Given the description of an element on the screen output the (x, y) to click on. 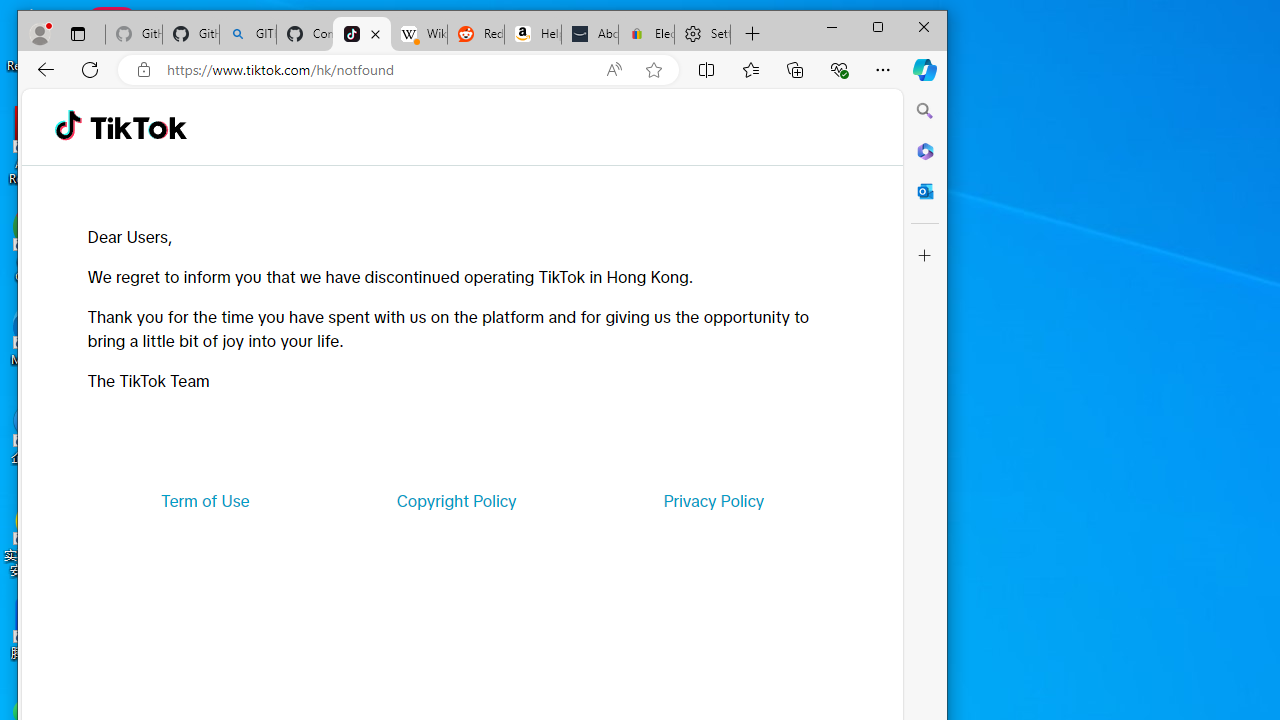
Privacy Policy (713, 500)
TikTok (138, 126)
Term of Use (205, 500)
Help & Contact Us - Amazon Customer Service (532, 34)
Wikipedia, the free encyclopedia (418, 34)
